Given the description of an element on the screen output the (x, y) to click on. 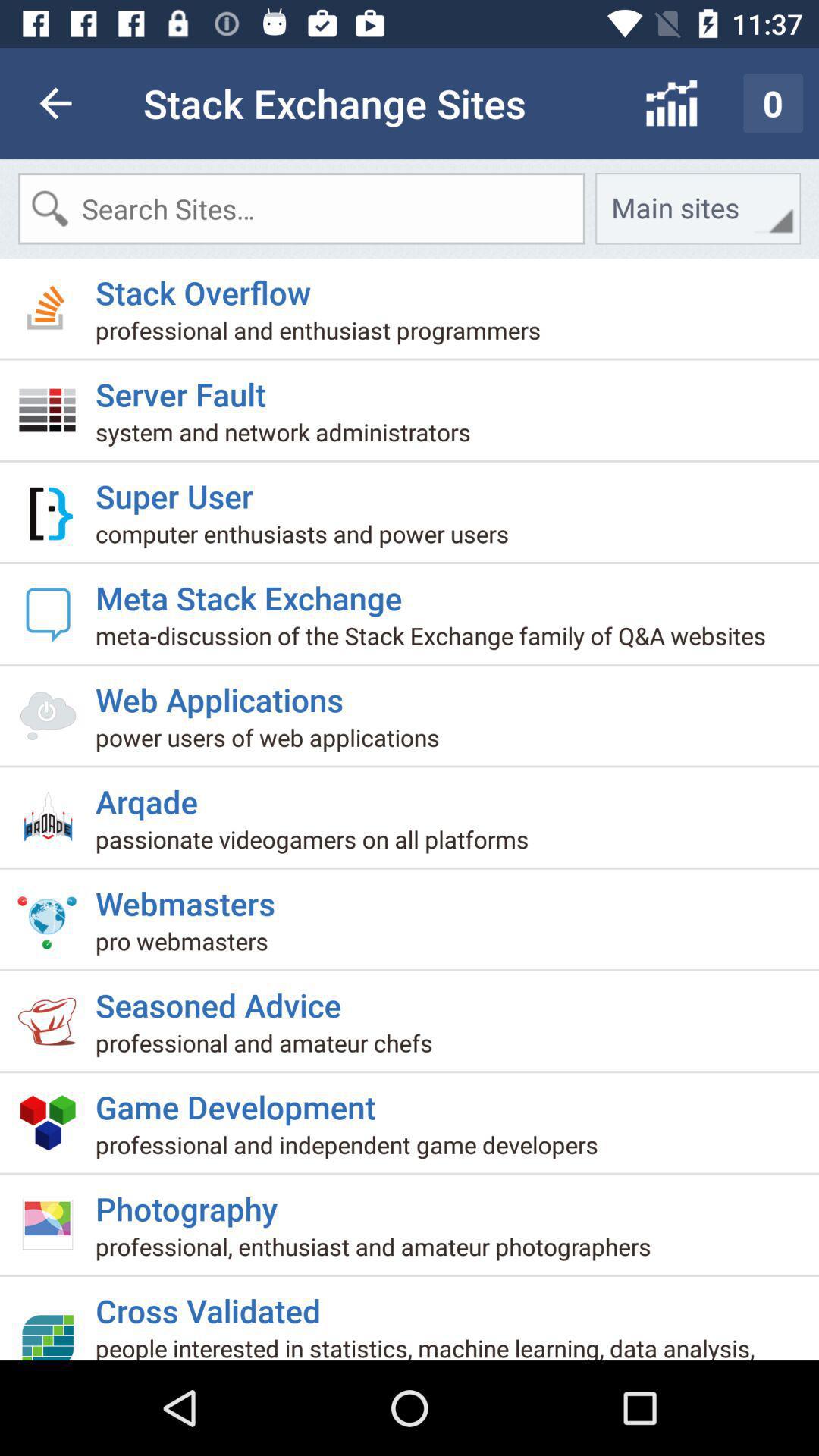
enter search phrase (301, 208)
